Given the description of an element on the screen output the (x, y) to click on. 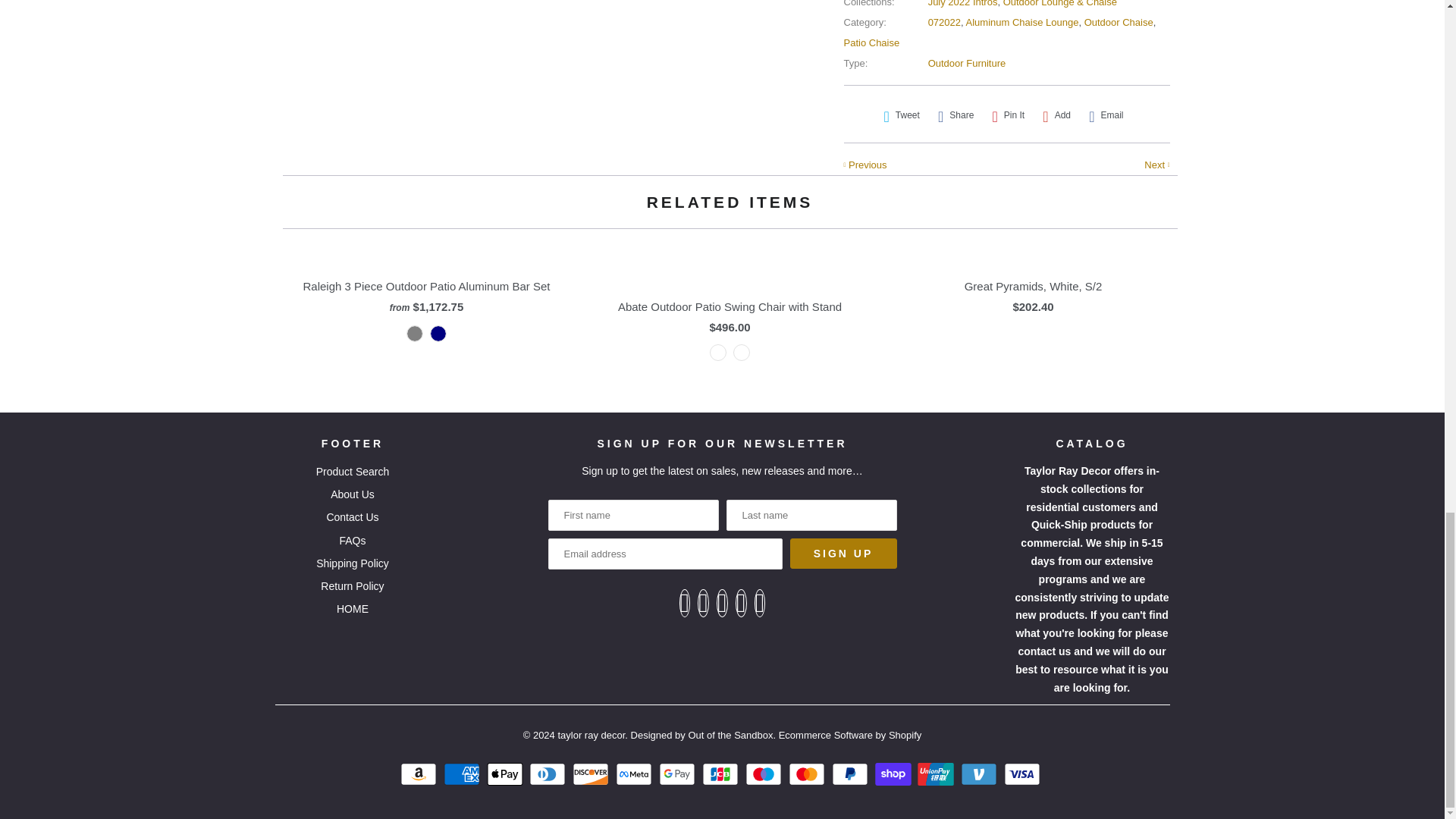
Sign Up (843, 553)
Google Pay (678, 773)
Diners Club (549, 773)
JCB (721, 773)
Discover (592, 773)
Amazon (420, 773)
Shop Pay (895, 773)
Visa (1023, 773)
Union Pay (937, 773)
Mastercard (808, 773)
Venmo (980, 773)
PayPal (851, 773)
Apple Pay (506, 773)
Meta Pay (635, 773)
American Express (463, 773)
